Given the description of an element on the screen output the (x, y) to click on. 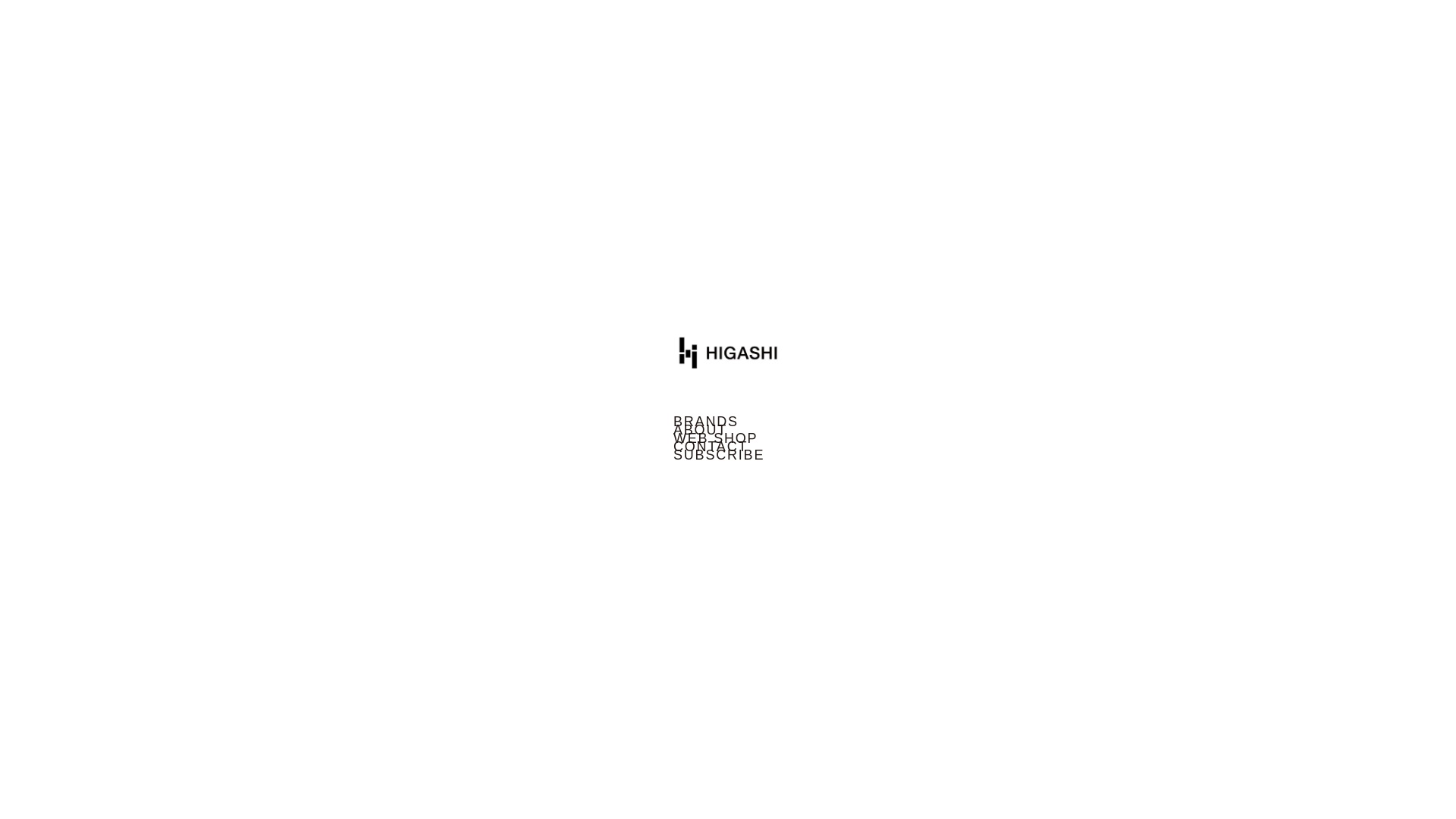
ABOUT Element type: text (727, 429)
SUBSCRIBE Element type: text (727, 454)
WEB SHOP Element type: text (727, 438)
BRANDS Element type: text (727, 421)
CONTACT Element type: text (727, 446)
